Given the description of an element on the screen output the (x, y) to click on. 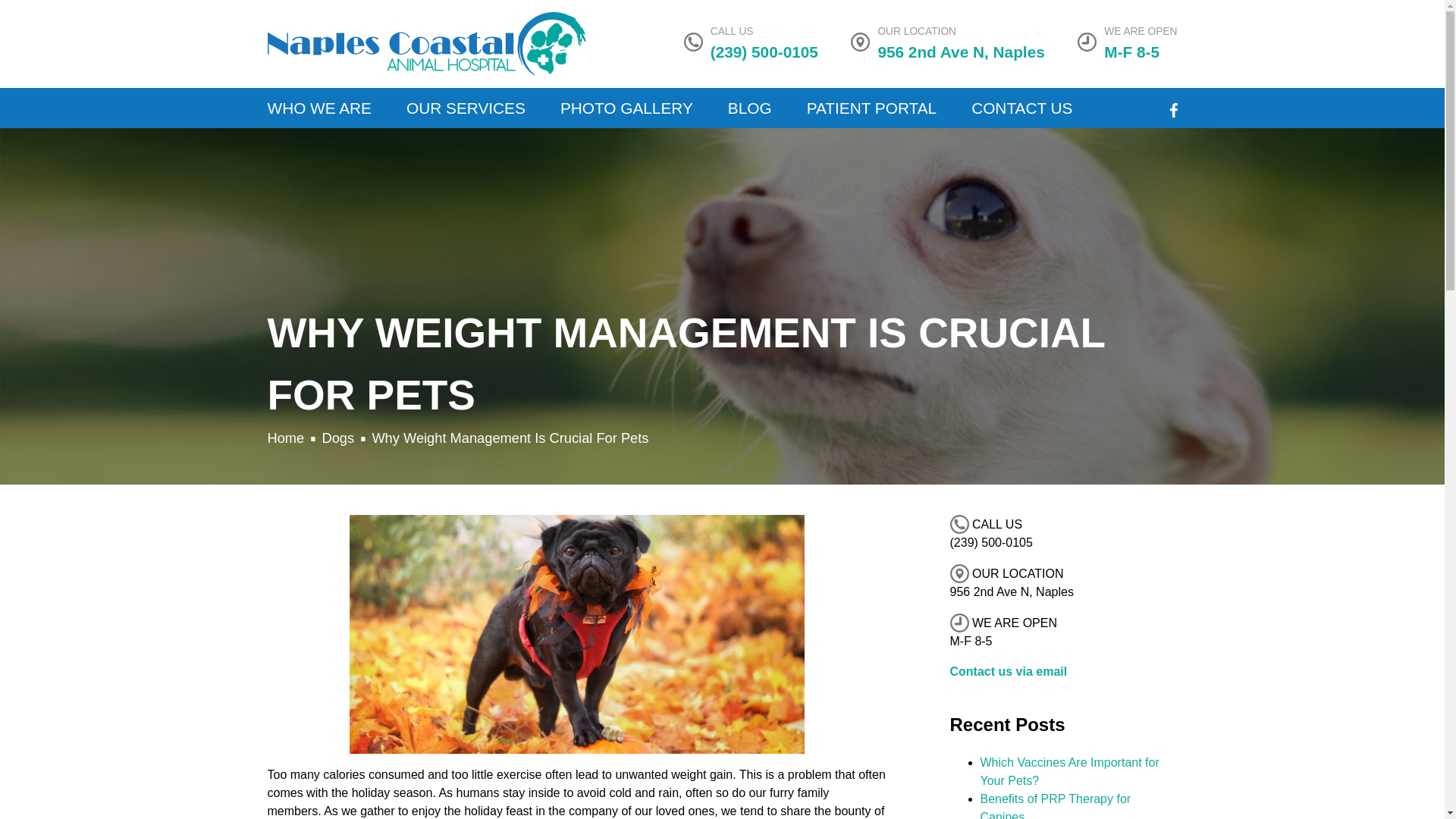
OUR SERVICES (465, 107)
Home (285, 437)
Which Vaccines Are Important for Your Pets? (1068, 771)
Contact us via email (1008, 671)
PHOTO GALLERY (626, 107)
Benefits of PRP Therapy for Canines (1055, 805)
WHO WE ARE (319, 107)
Dogs (337, 437)
CONTACT US (1021, 107)
PATIENT PORTAL (871, 107)
